Given the description of an element on the screen output the (x, y) to click on. 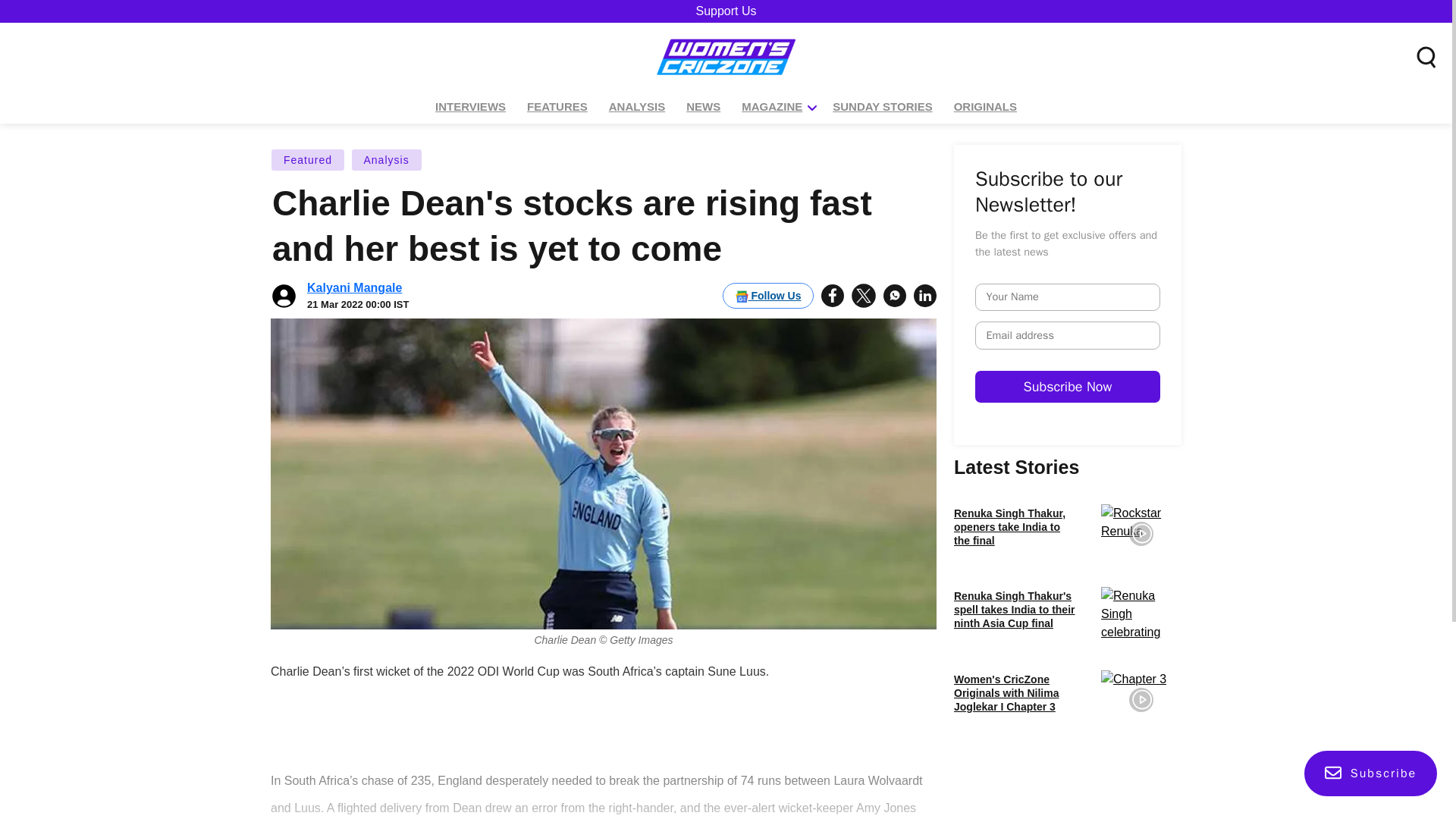
FEATURES (556, 106)
Featured (307, 159)
INTERVIEWS (470, 106)
ANALYSIS (636, 106)
SUNDAY STORIES (882, 106)
NEWS (703, 106)
Analysis (386, 159)
ORIGINALS (985, 106)
Kalyani Mangale (354, 287)
Follow Us (767, 295)
MAGAZINE (772, 106)
